Given the description of an element on the screen output the (x, y) to click on. 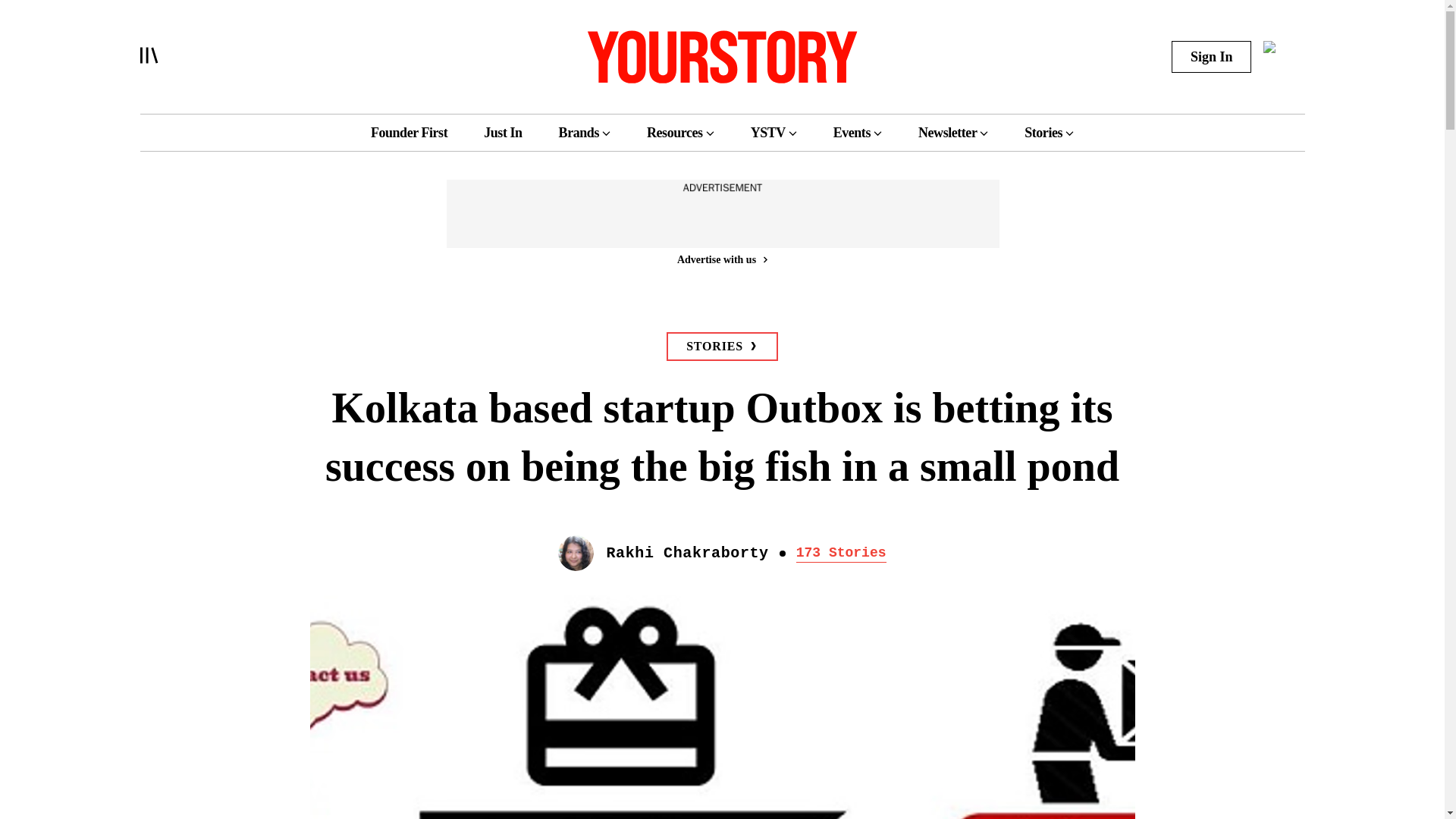
Just In (502, 132)
STORIES (721, 346)
173 Stories (841, 553)
Advertise with us (721, 259)
Founder First (408, 132)
Rakhi Chakraborty (686, 553)
